Given the description of an element on the screen output the (x, y) to click on. 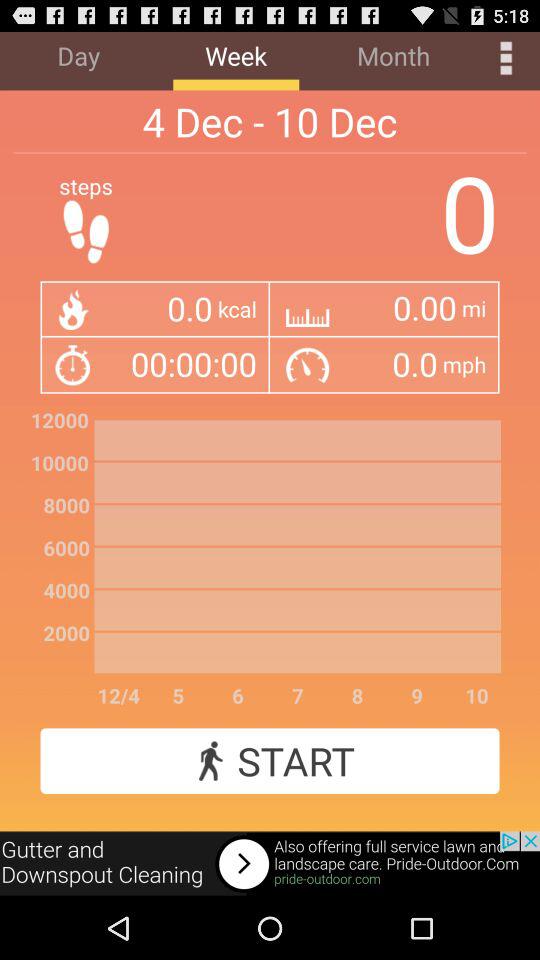
advertisement banner (270, 864)
